Given the description of an element on the screen output the (x, y) to click on. 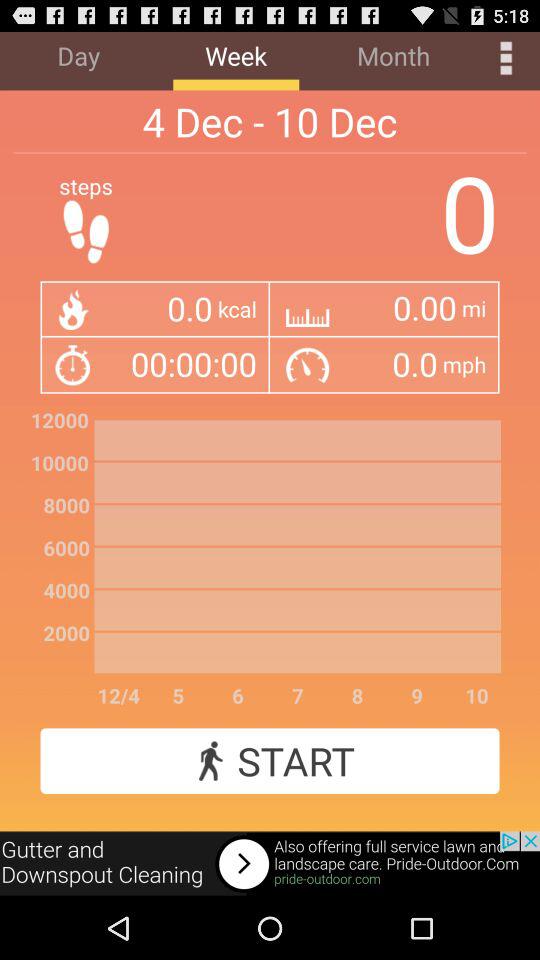
advertisement banner (270, 864)
